Given the description of an element on the screen output the (x, y) to click on. 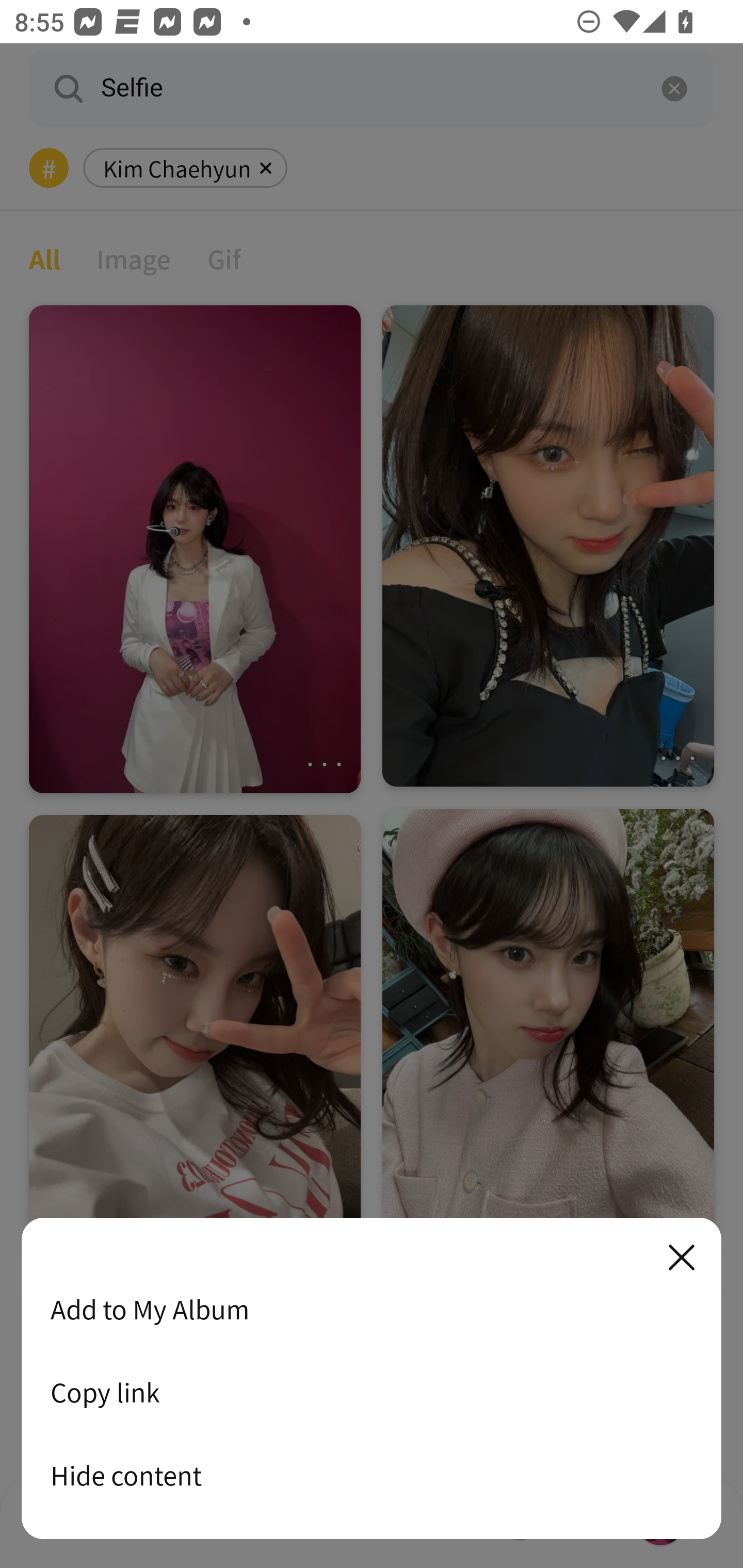
Add to My Album Copy link Hide content (371, 1378)
Add to My Album (371, 1308)
Copy link (371, 1391)
Hide content (371, 1474)
